Given the description of an element on the screen output the (x, y) to click on. 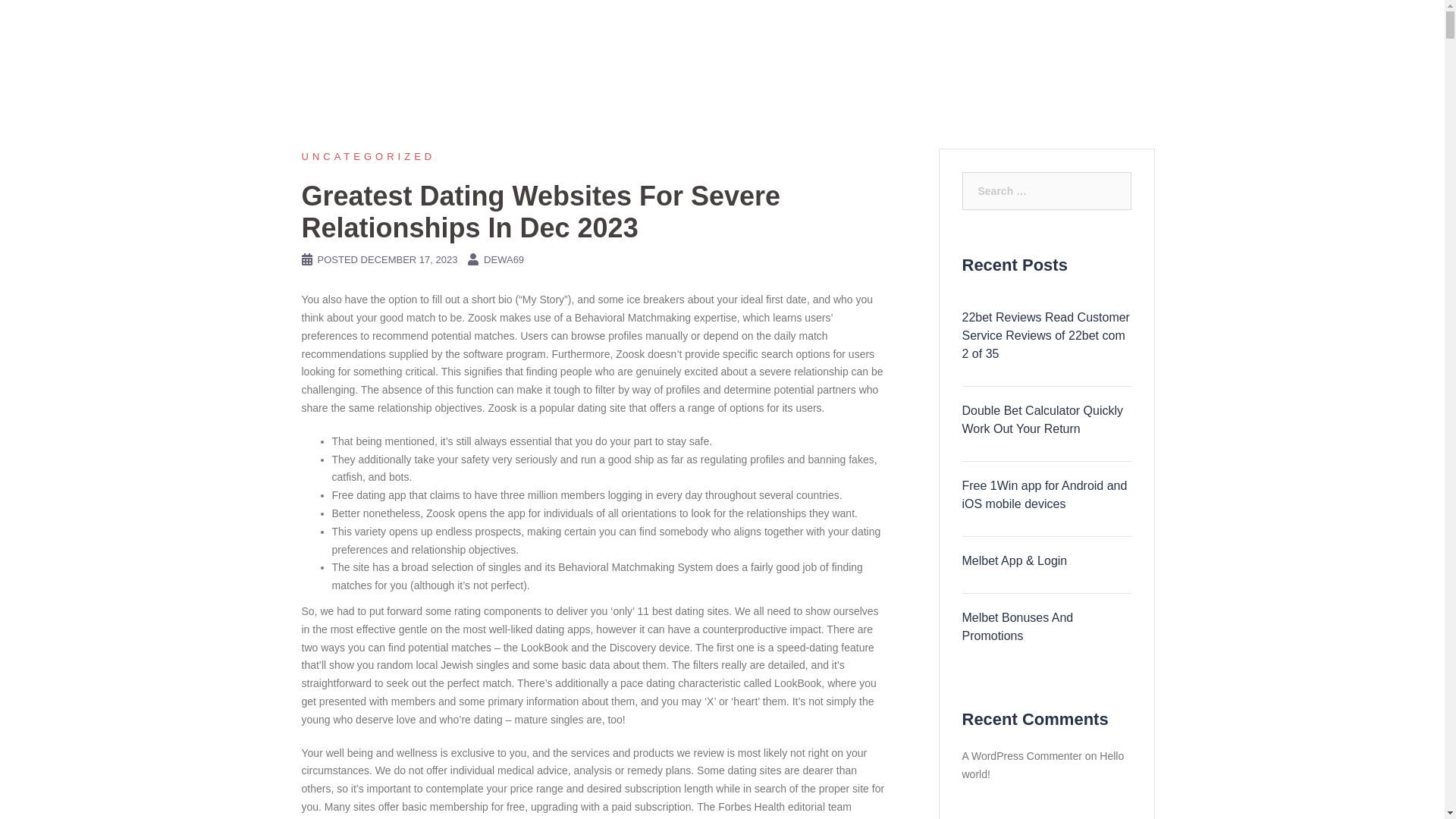
Double Bet Calculator Quickly Work Out Your Return (1045, 420)
Olive Sourcing (343, 30)
DEWA69 (503, 259)
Services (978, 31)
Hello world! (1042, 765)
Contact (1115, 31)
DECEMBER 17, 2023 (409, 259)
Home (837, 31)
Blog (1047, 31)
Uncategorized (368, 156)
Search (84, 18)
Melbet Bonuses And Promotions (1045, 627)
Free 1Win app for Android and iOS mobile devices (1045, 494)
Team (904, 31)
